Given the description of an element on the screen output the (x, y) to click on. 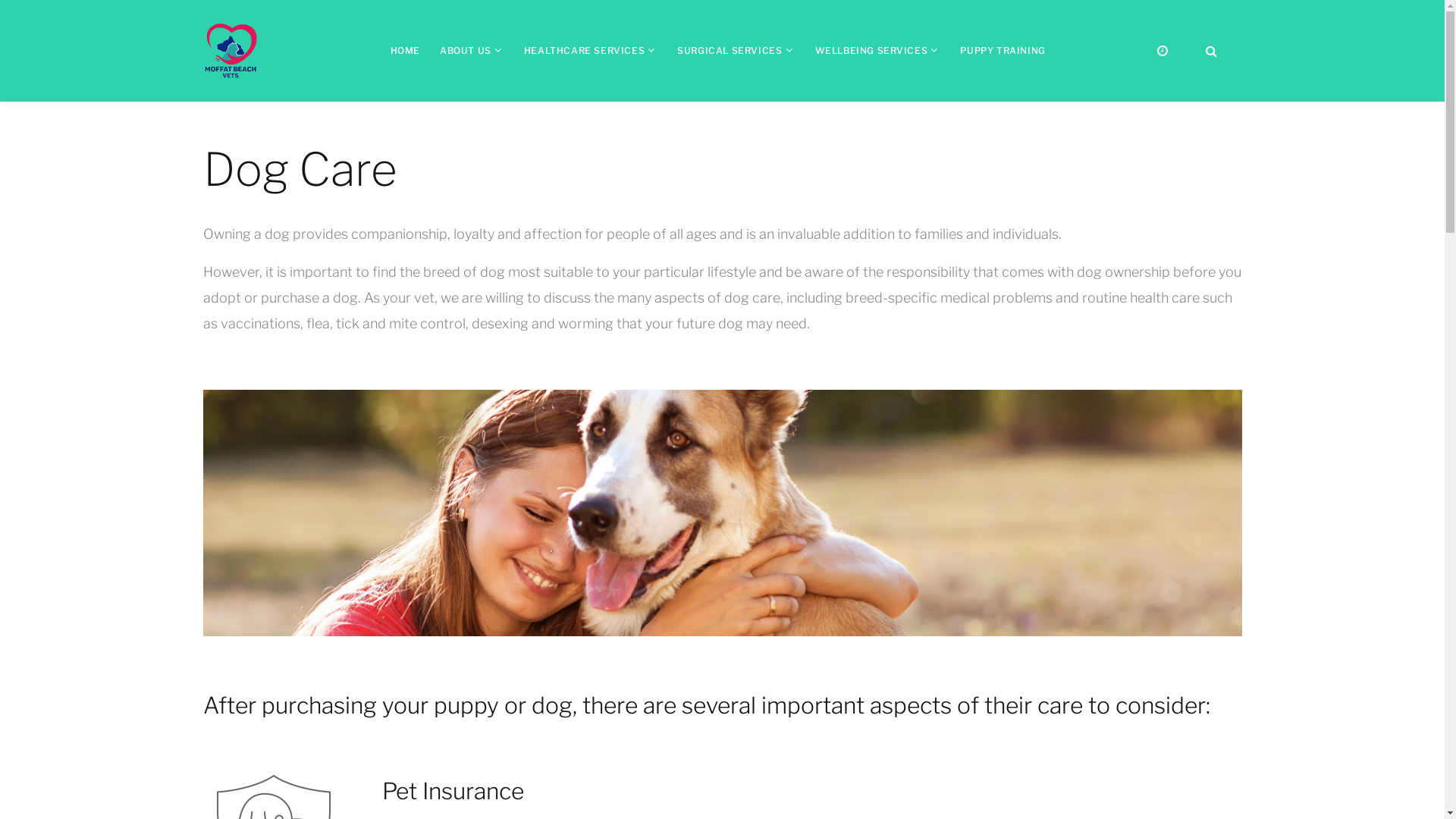
HEALTHCARE SERVICES Element type: text (584, 50)
ABOUT US Element type: text (465, 50)
HOME Element type: text (405, 50)
PUPPY TRAINING Element type: text (1002, 50)
SURGICAL SERVICES Element type: text (729, 50)
WELLBEING SERVICES Element type: text (870, 50)
